Given the description of an element on the screen output the (x, y) to click on. 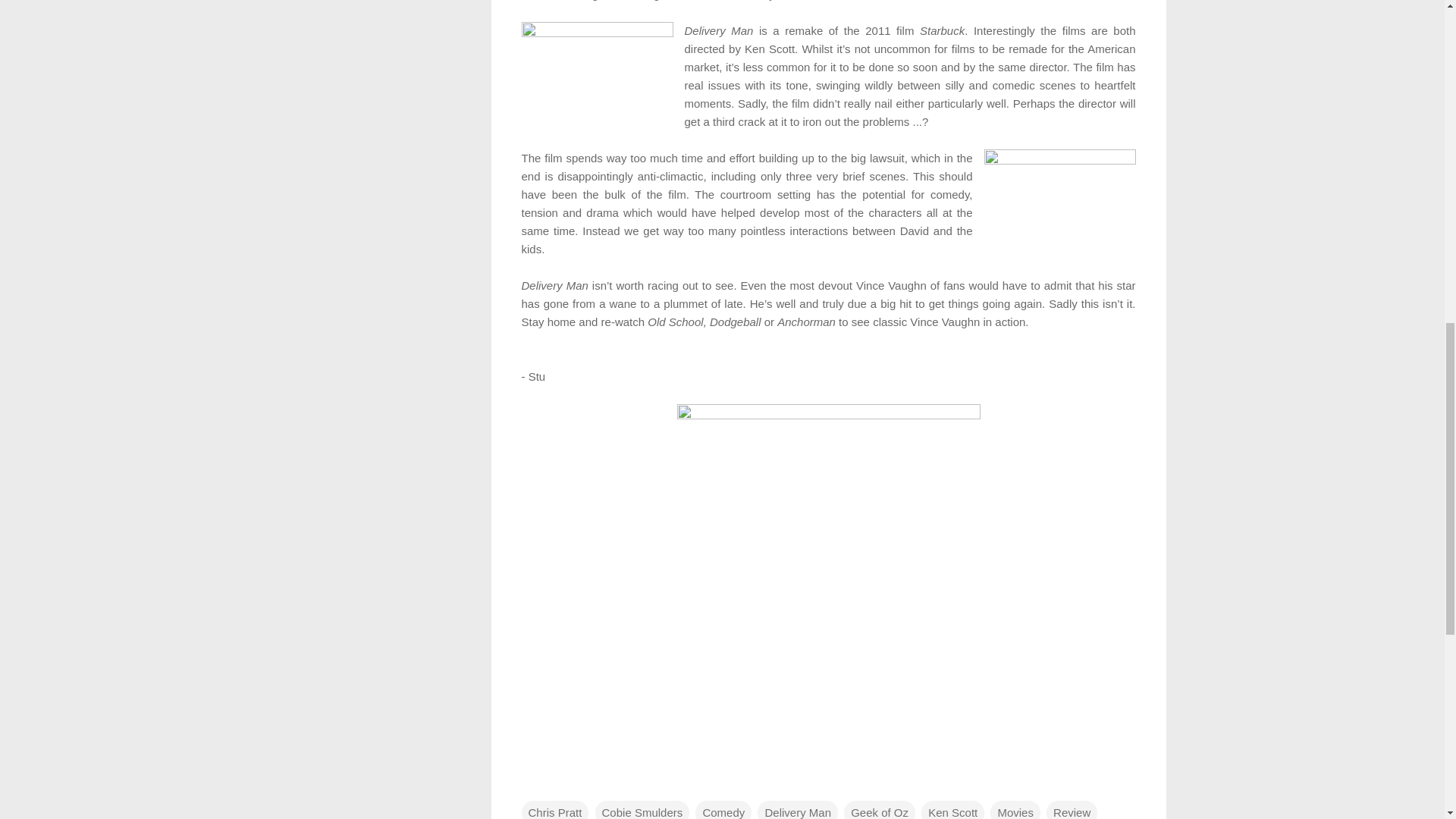
Movies (1015, 809)
Review (1071, 809)
Chris Pratt (555, 809)
Ken Scott (952, 809)
Delivery Man (797, 809)
Comedy (723, 809)
Geek of Oz (879, 809)
Cobie Smulders (642, 809)
Email Post (530, 780)
